Given the description of an element on the screen output the (x, y) to click on. 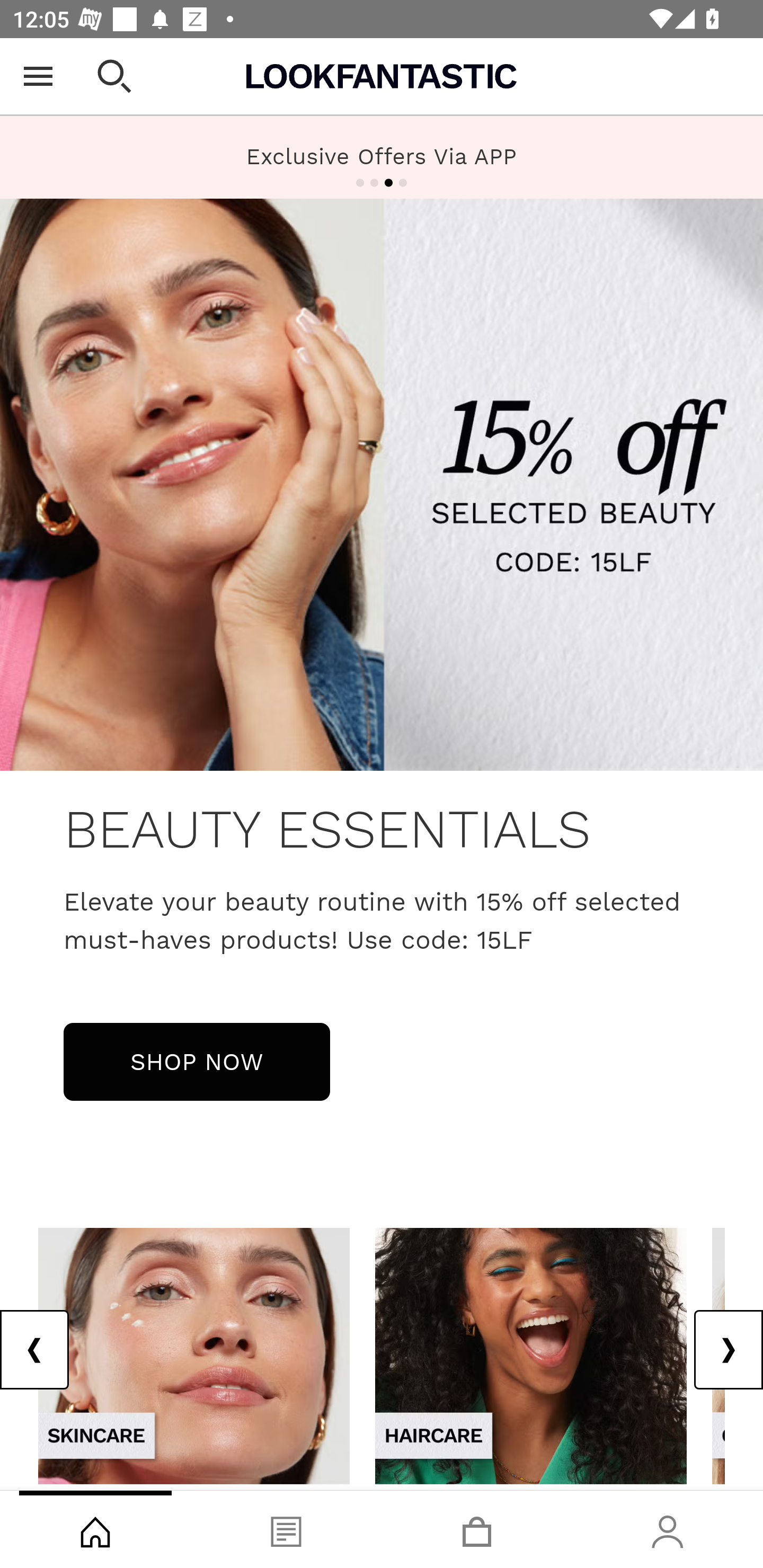
Open Menu (38, 75)
Open search (114, 75)
Lookfantastic USA (381, 75)
SHOP NOW (196, 1061)
view-all (193, 1355)
view-all (530, 1355)
Previous (35, 1349)
Next (727, 1349)
Shop, tab, 1 of 4 (95, 1529)
Blog, tab, 2 of 4 (285, 1529)
Basket, tab, 3 of 4 (476, 1529)
Account, tab, 4 of 4 (667, 1529)
